Given the description of an element on the screen output the (x, y) to click on. 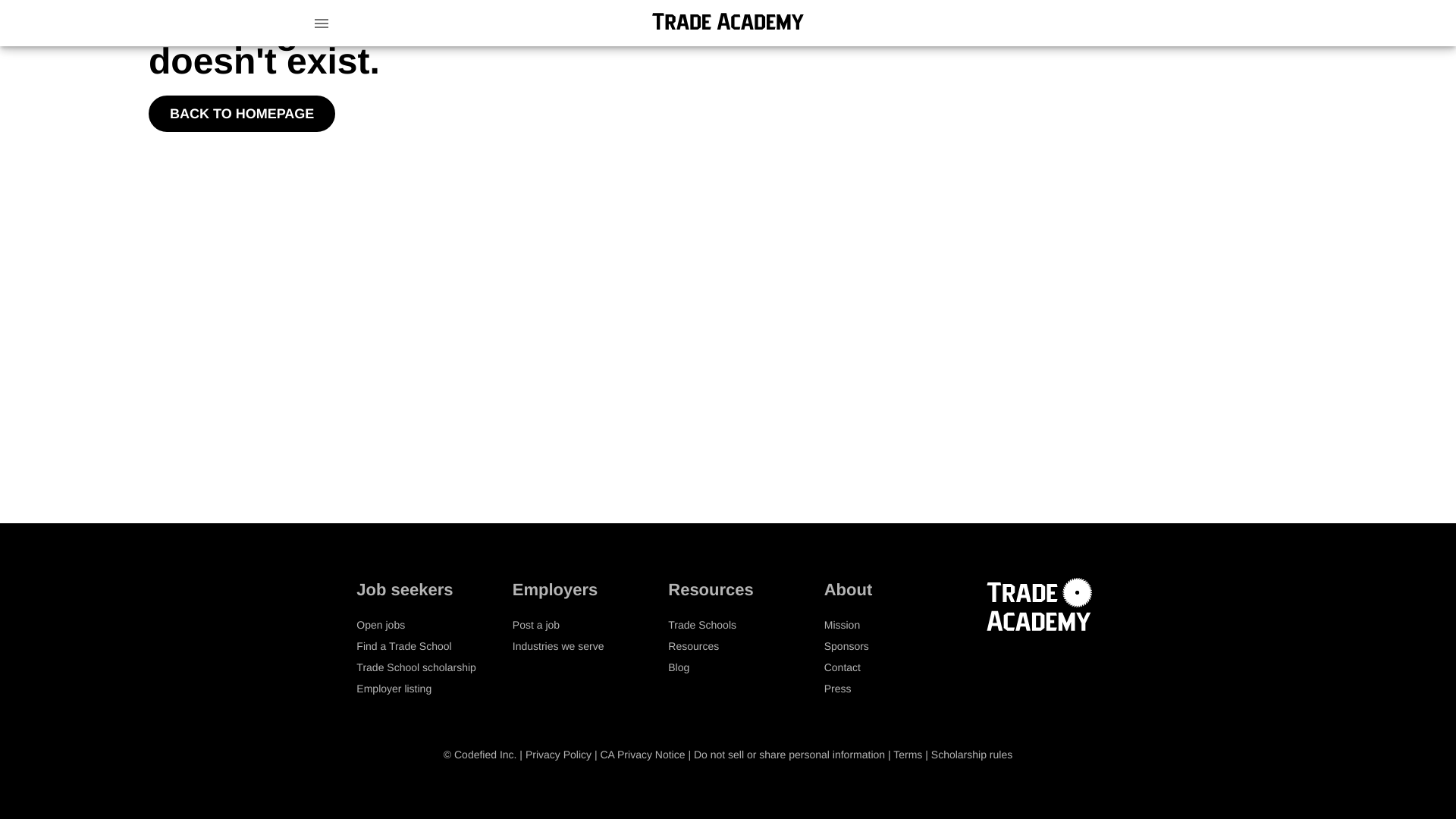
Do not sell or share personal information (789, 754)
Mission (842, 624)
BACK TO HOMEPAGE (241, 113)
Contact (842, 666)
Employer listing (393, 688)
Privacy Policy (558, 754)
Sponsors (846, 645)
Trade School scholarship (416, 666)
Post a job (535, 624)
Resources (693, 645)
